Given the description of an element on the screen output the (x, y) to click on. 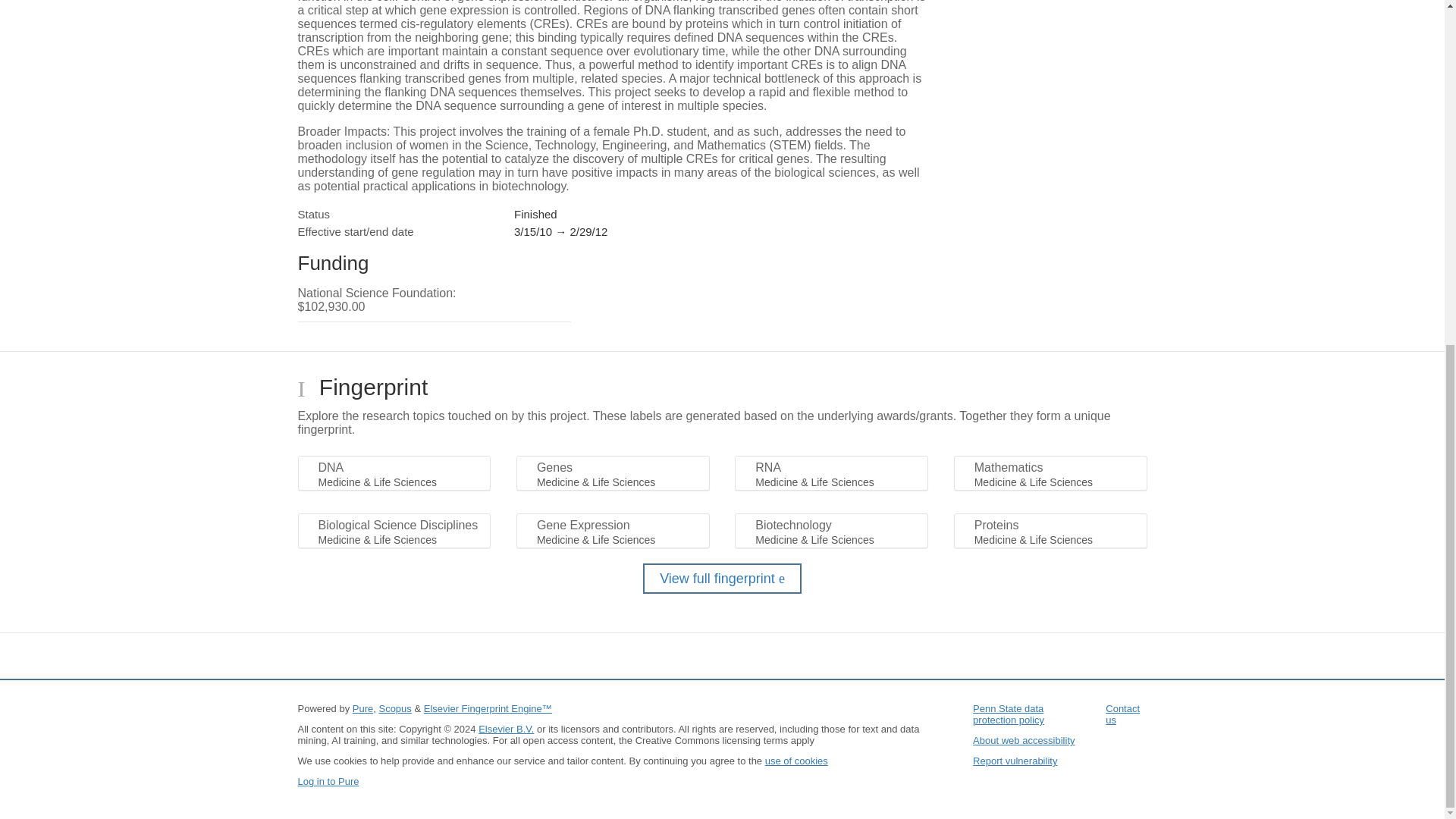
Penn State data protection policy (1007, 713)
Pure (362, 708)
use of cookies (796, 760)
View full fingerprint (722, 578)
Log in to Pure (327, 781)
About web accessibility (1023, 740)
Elsevier B.V. (506, 728)
Scopus (394, 708)
